Given the description of an element on the screen output the (x, y) to click on. 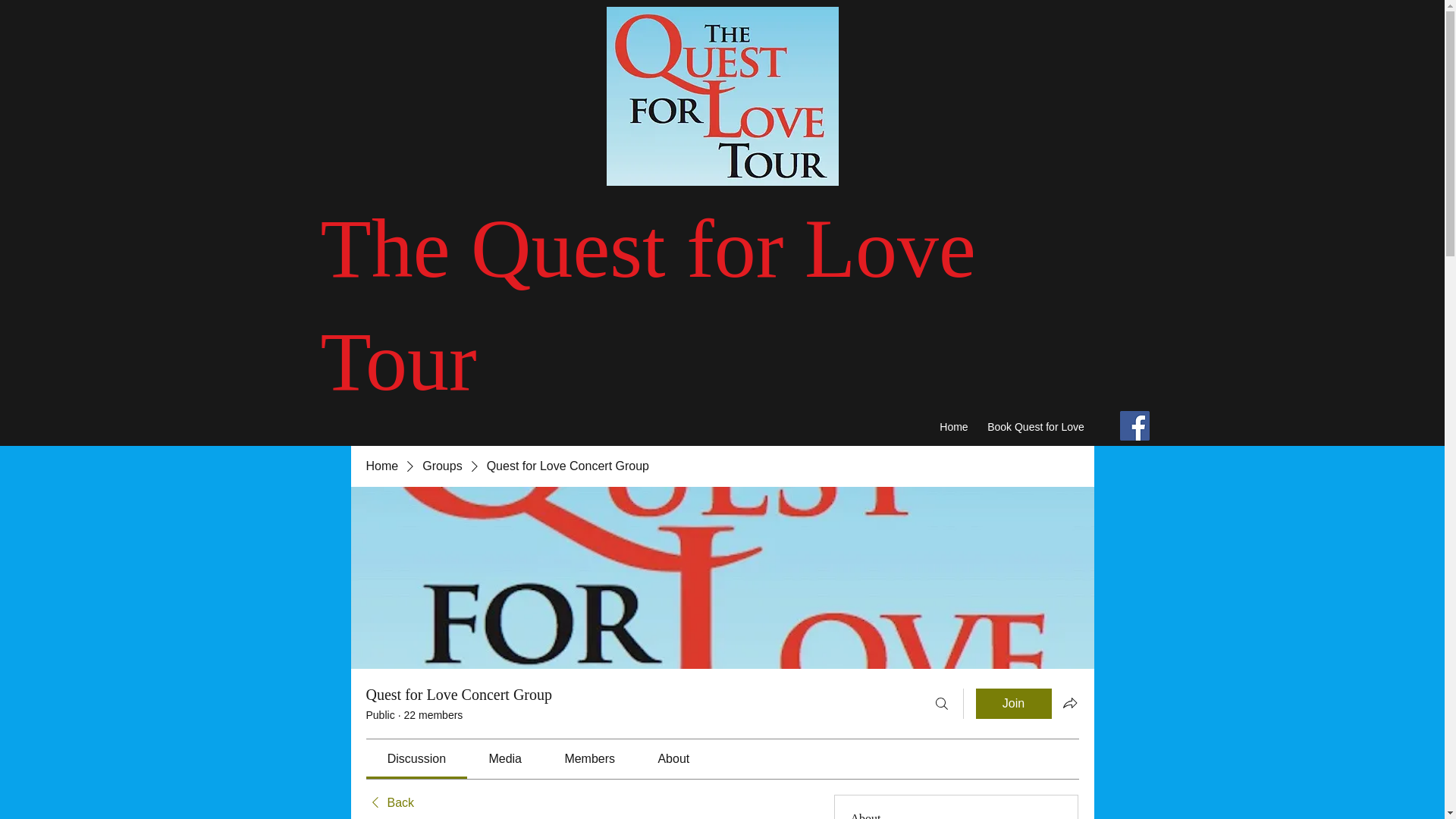
Home (381, 466)
Home (953, 427)
Groups (441, 466)
Back (389, 802)
Join (1013, 703)
Book Quest for Love (1036, 427)
